Given the description of an element on the screen output the (x, y) to click on. 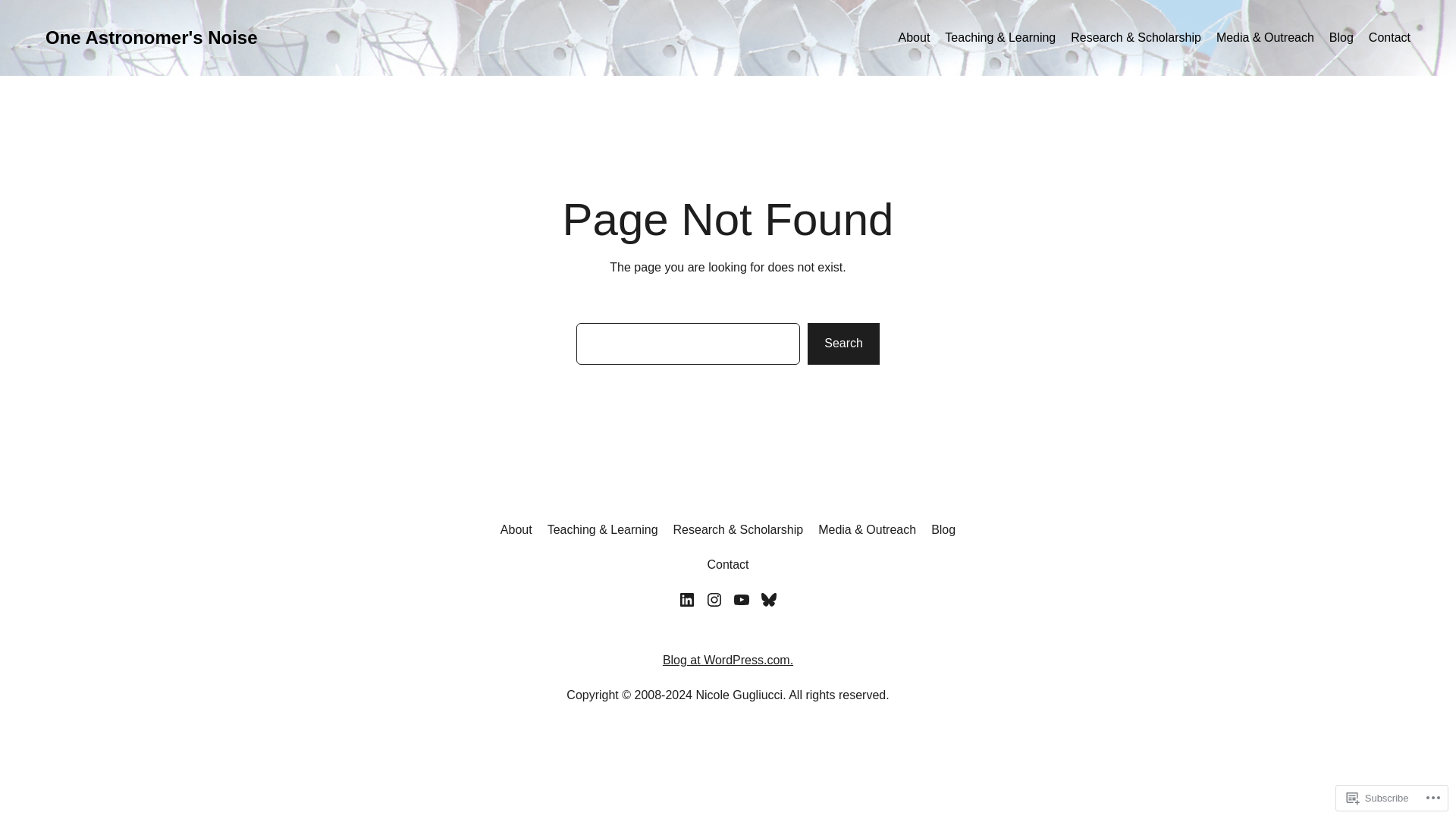
Blog at WordPress.com. (727, 659)
About (516, 529)
Blog (943, 529)
About (914, 37)
One Astronomer's Noise (151, 37)
Contact (727, 564)
Contact (1389, 37)
Blog (1341, 37)
Search (843, 342)
